Given the description of an element on the screen output the (x, y) to click on. 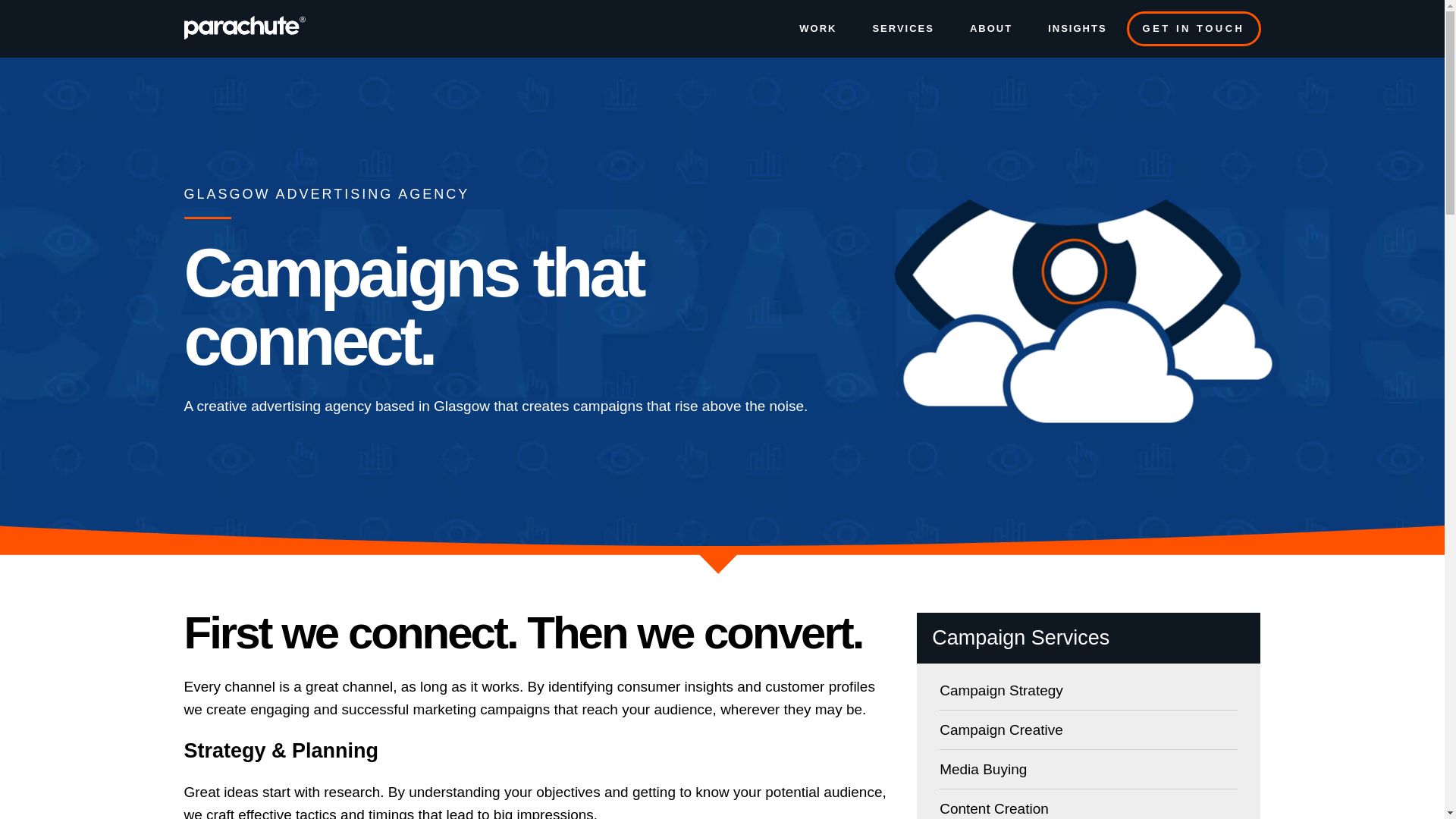
GET IN TOUCH (1193, 28)
SERVICES (903, 28)
WORK (817, 28)
INSIGHTS (1077, 28)
Services (903, 28)
Parachute Logo (243, 28)
ABOUT (990, 28)
Insights (1077, 28)
About (990, 28)
Work (817, 28)
